Given the description of an element on the screen output the (x, y) to click on. 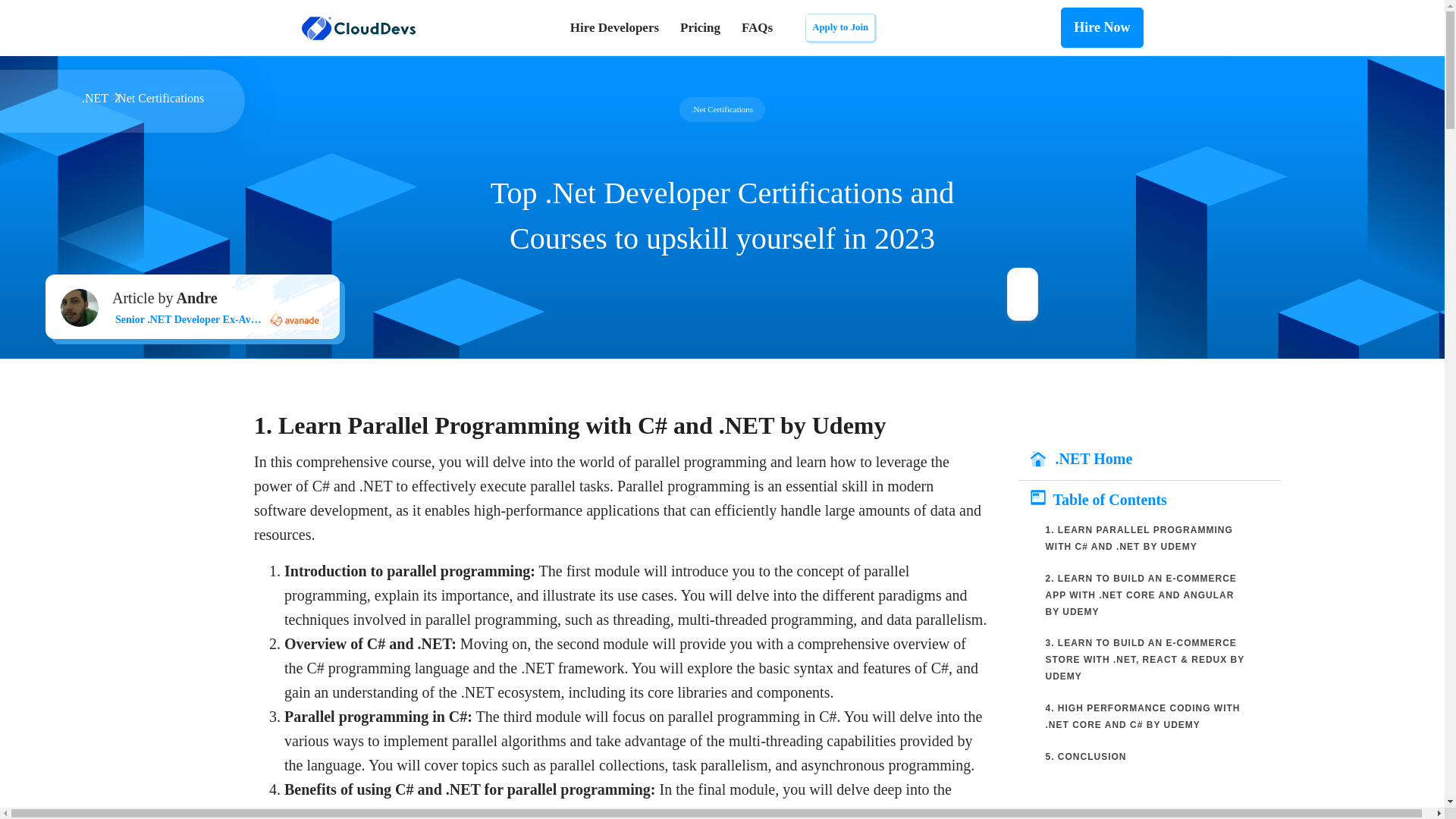
FAQs (756, 28)
Pricing (699, 28)
5. CONCLUSION  (1086, 756)
.Net Certifications (159, 97)
Hire Developers (619, 28)
.NET Home (1155, 457)
Hire Now (1101, 27)
.NET (94, 97)
